Given the description of an element on the screen output the (x, y) to click on. 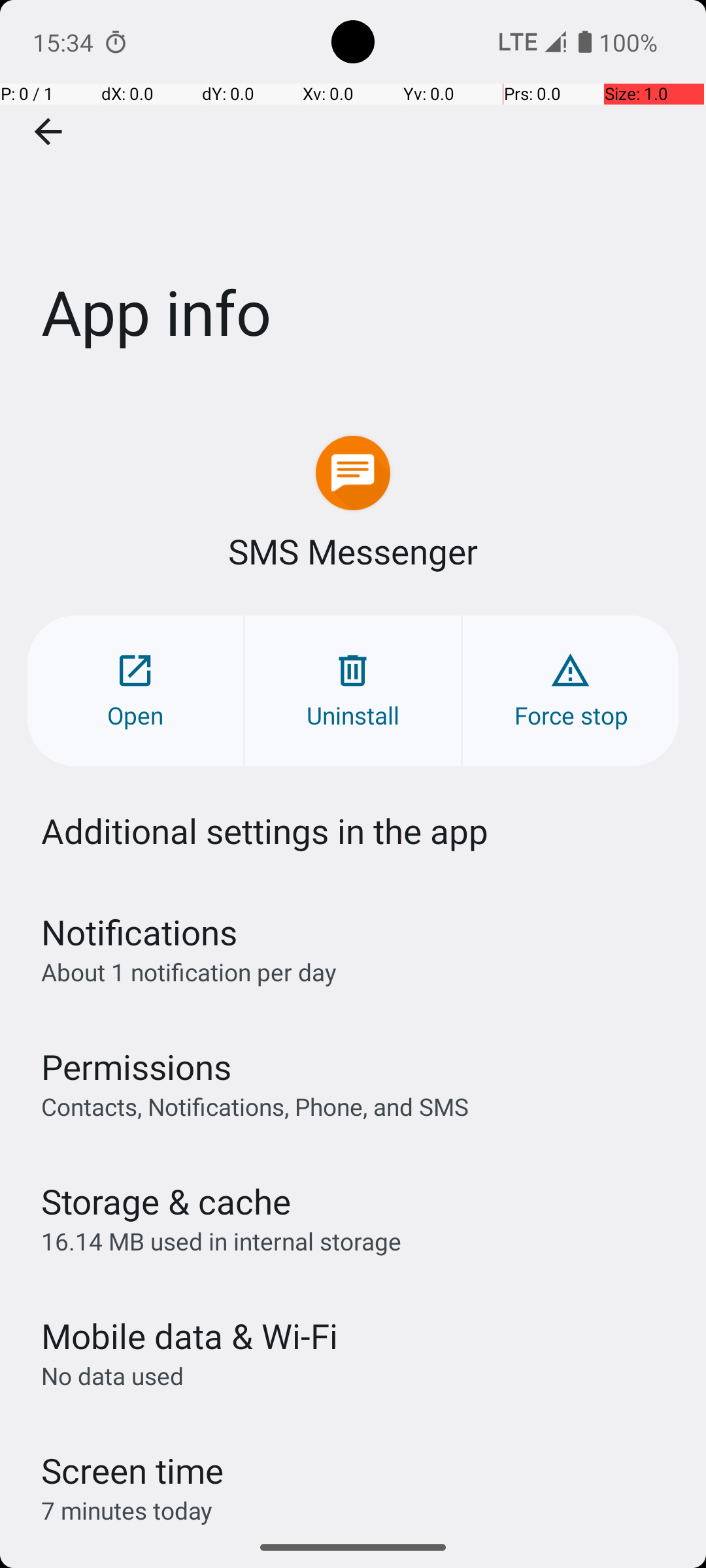
Additional settings in the app Element type: android.widget.TextView (264, 830)
About 1 notification per day Element type: android.widget.TextView (188, 971)
Contacts, Notifications, Phone, and SMS Element type: android.widget.TextView (254, 1106)
16.14 MB used in internal storage Element type: android.widget.TextView (221, 1240)
7 minutes today Element type: android.widget.TextView (127, 1509)
